Given the description of an element on the screen output the (x, y) to click on. 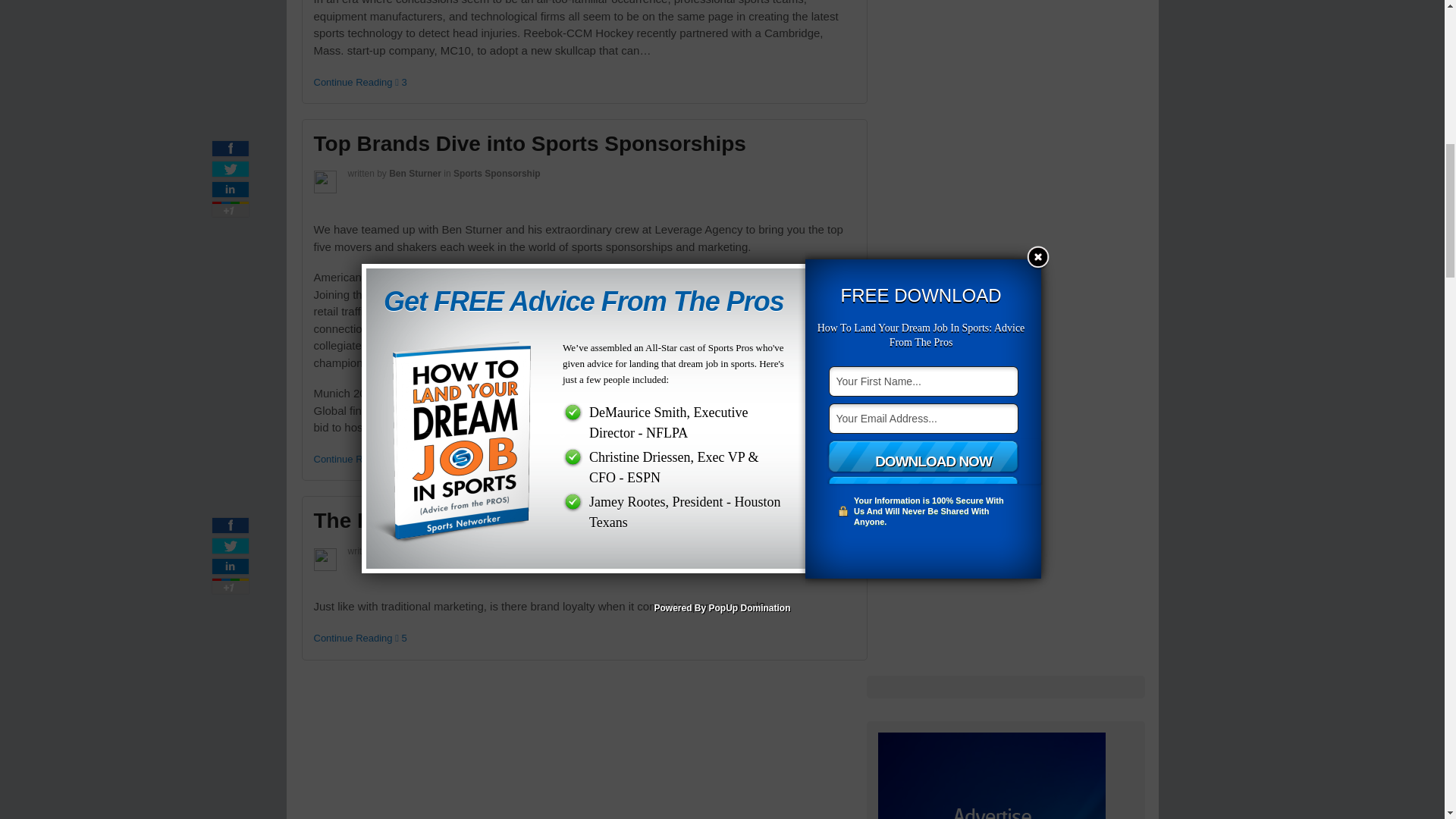
Continue Reading (353, 81)
